Given the description of an element on the screen output the (x, y) to click on. 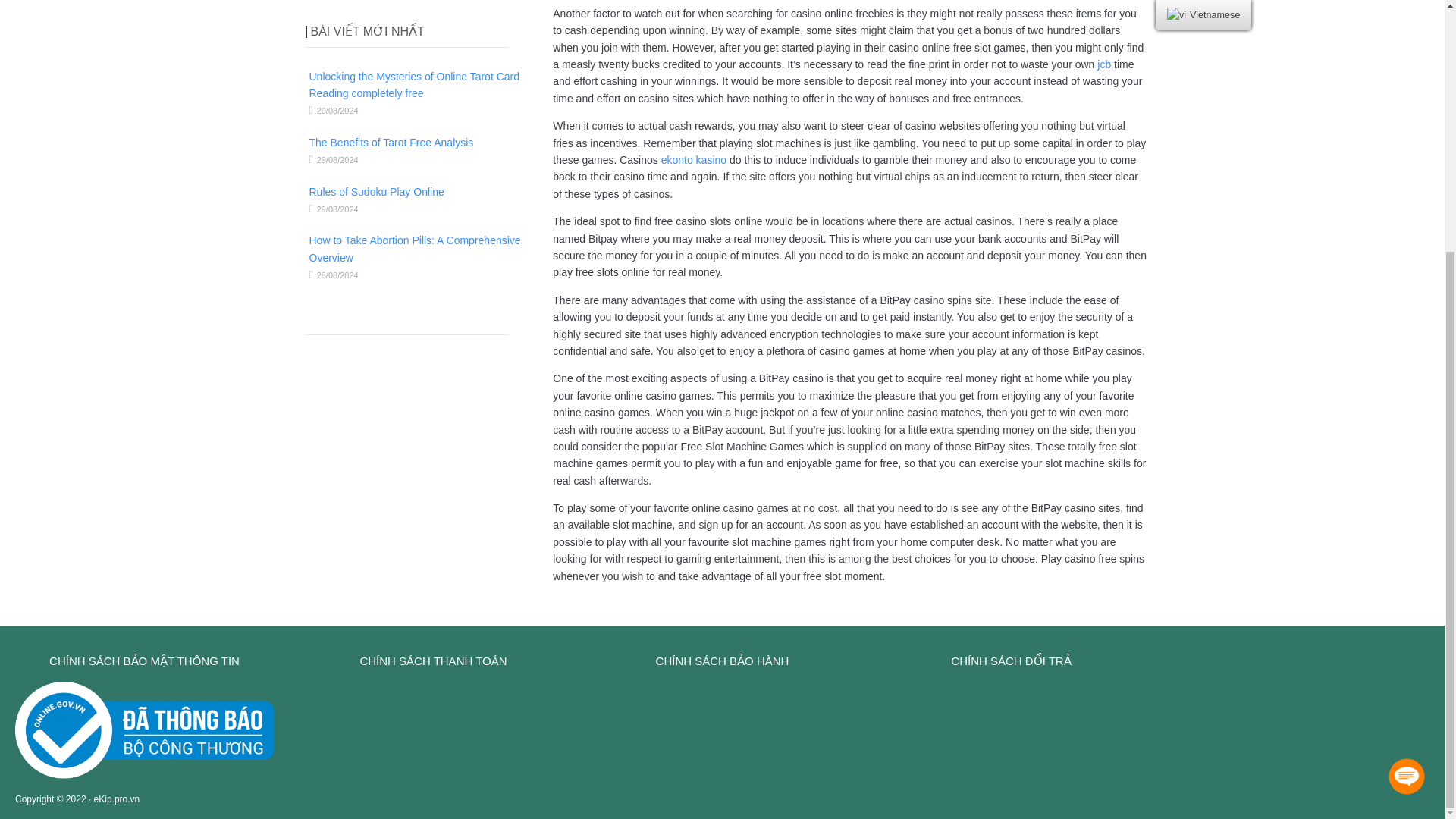
ekonto kasino (693, 159)
The Benefits of Tarot Free Analysis (391, 142)
jcb (1103, 64)
How to Take Abortion Pills: A Comprehensive Overview (414, 248)
Rules of Sudoku Play Online (376, 191)
